Given the description of an element on the screen output the (x, y) to click on. 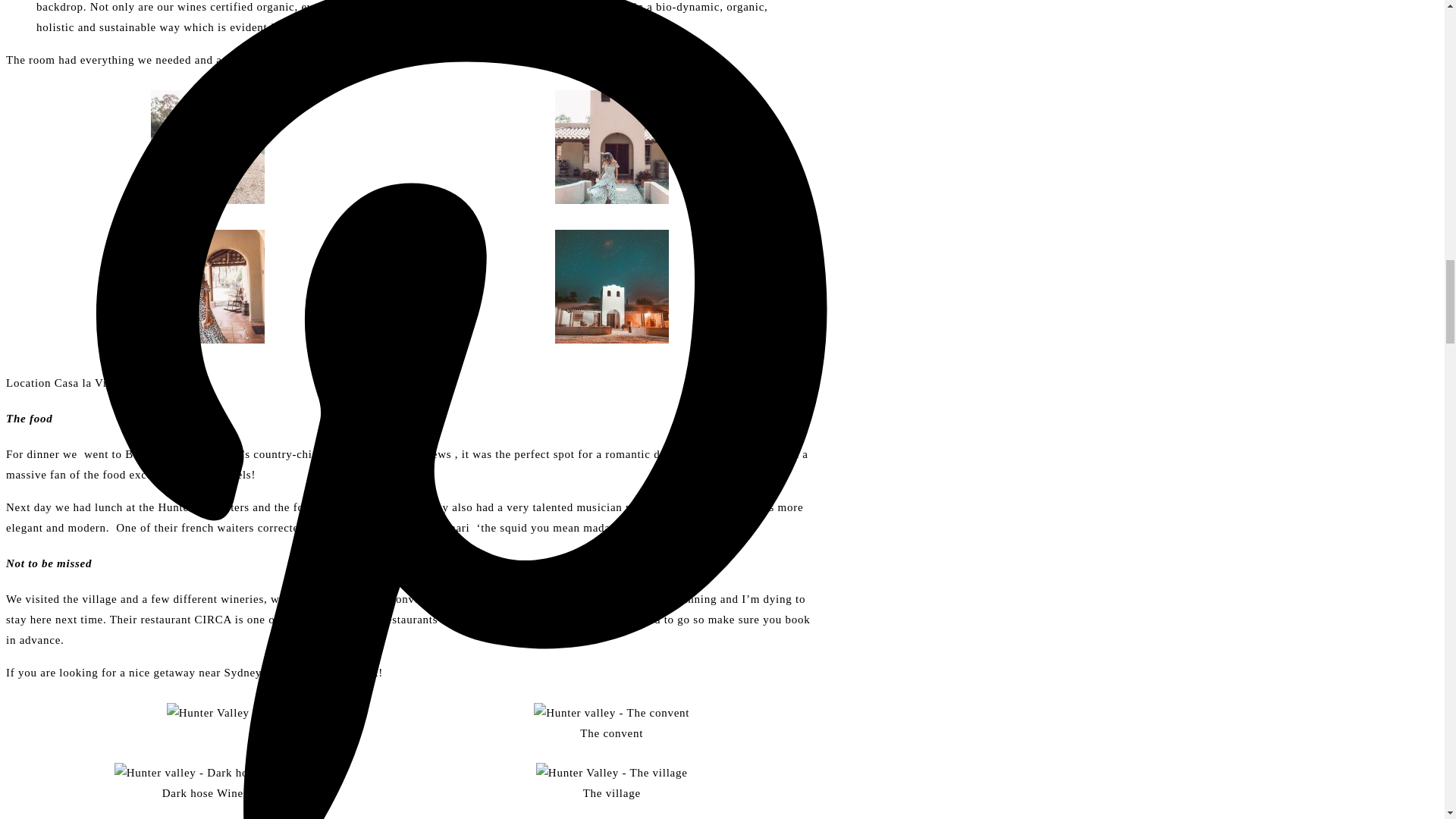
Casa la Vina (83, 382)
convent (410, 598)
